Given the description of an element on the screen output the (x, y) to click on. 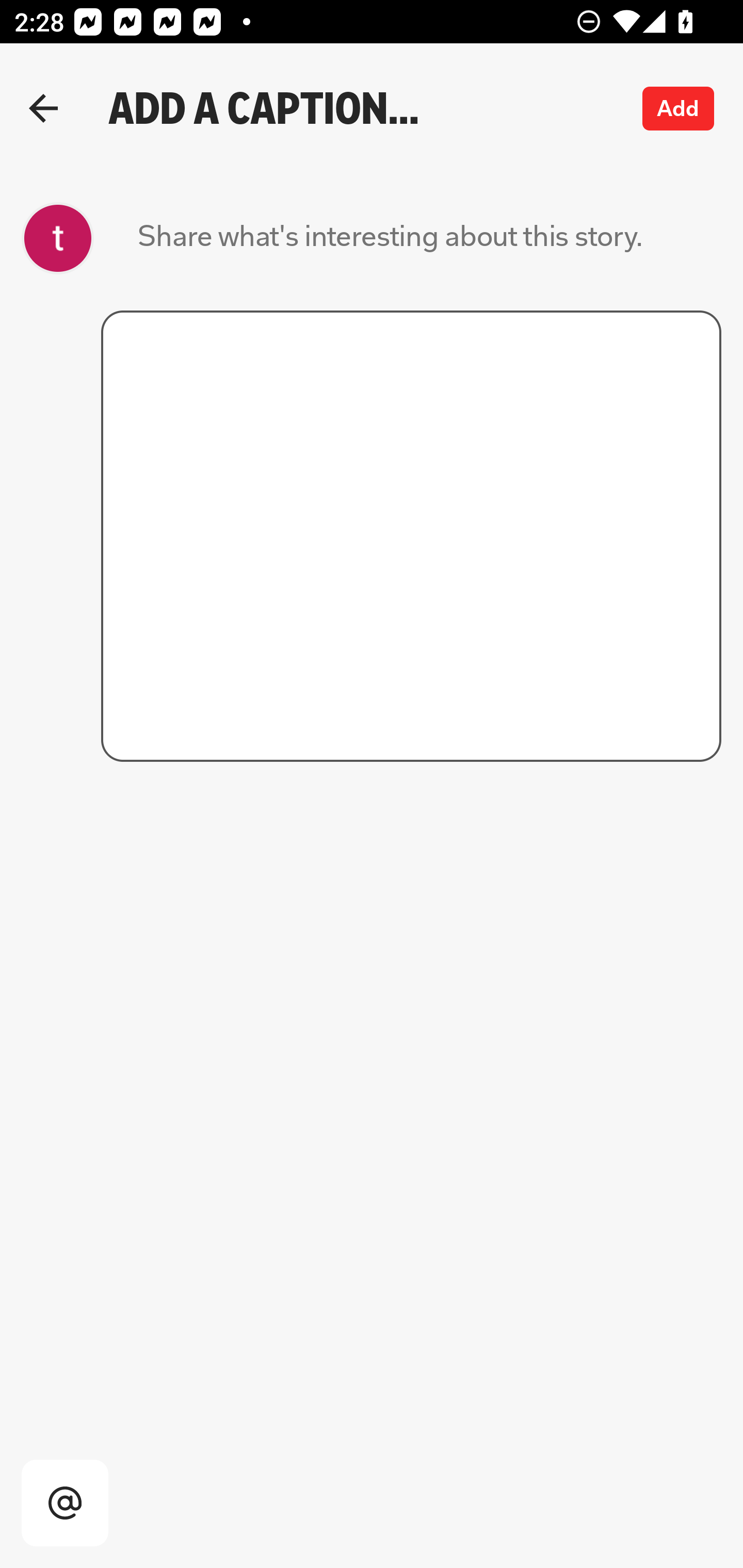
Add (678, 108)
Share what's interesting about this story. (390, 238)
